Given the description of an element on the screen output the (x, y) to click on. 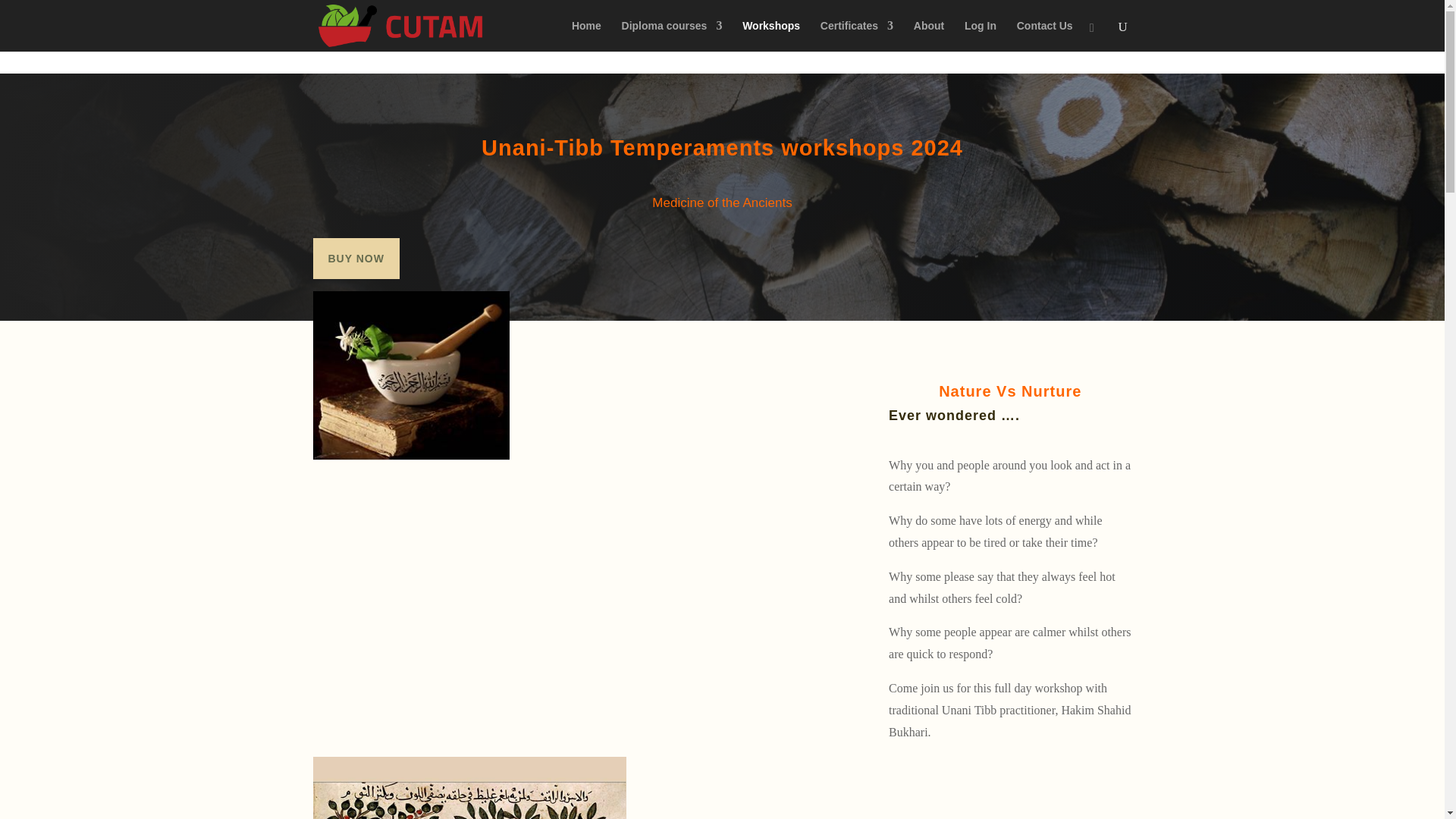
About (928, 35)
Workshops (770, 35)
cutam (411, 375)
Log In (979, 35)
Diploma courses (671, 35)
unani (469, 787)
Certificates (857, 35)
BUY NOW (355, 258)
Home (586, 35)
Contact Us (1044, 35)
